Given the description of an element on the screen output the (x, y) to click on. 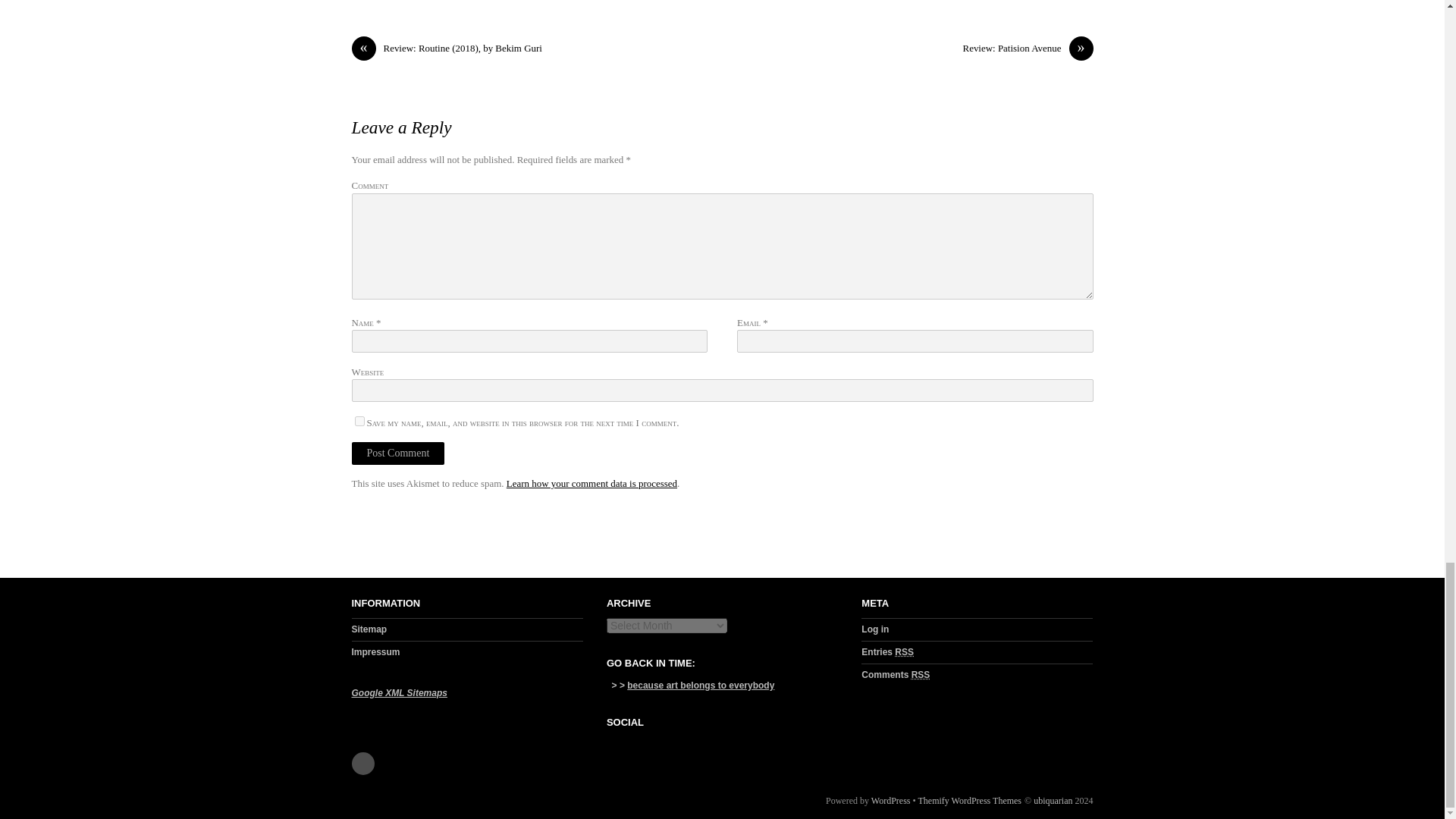
Post Comment (398, 453)
yes (360, 420)
